Given the description of an element on the screen output the (x, y) to click on. 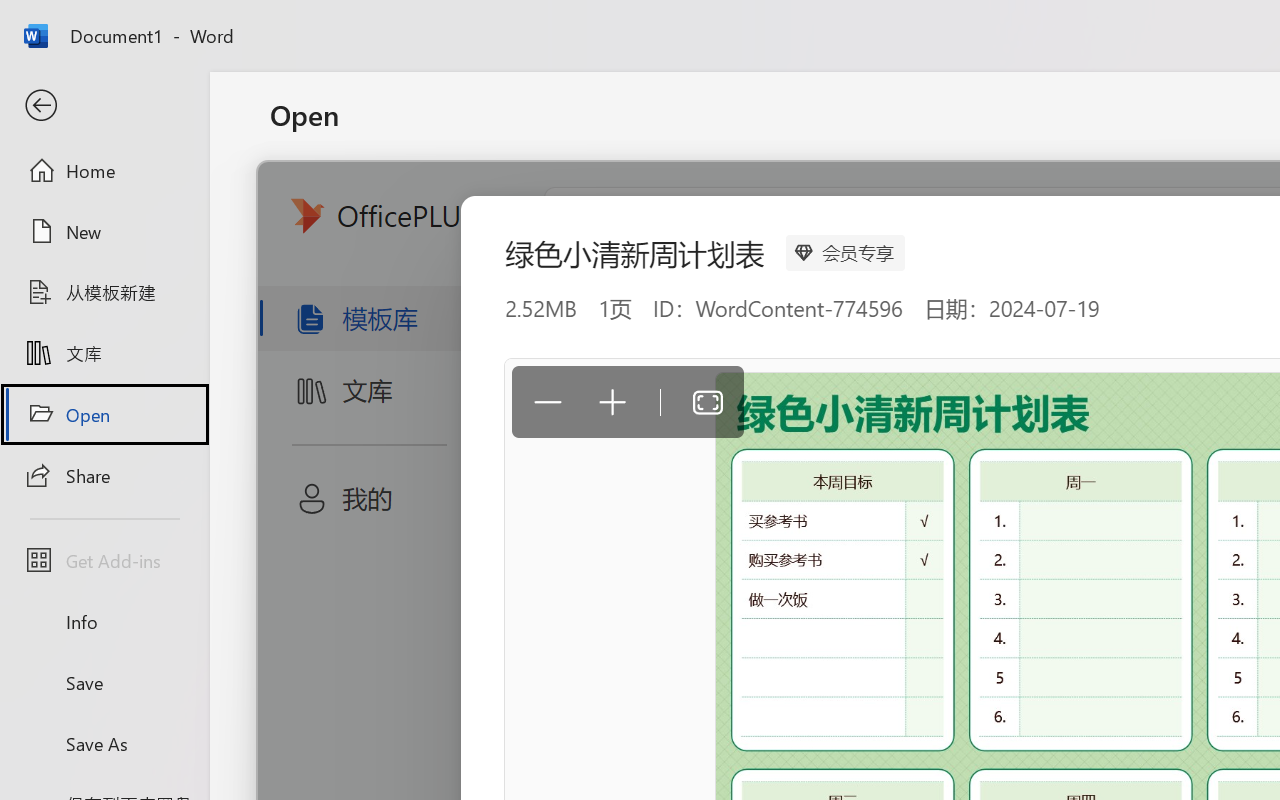
Shared with Me (507, 283)
OneDrive (507, 359)
Get Add-ins (104, 560)
Save As (104, 743)
Recent (507, 205)
